Given the description of an element on the screen output the (x, y) to click on. 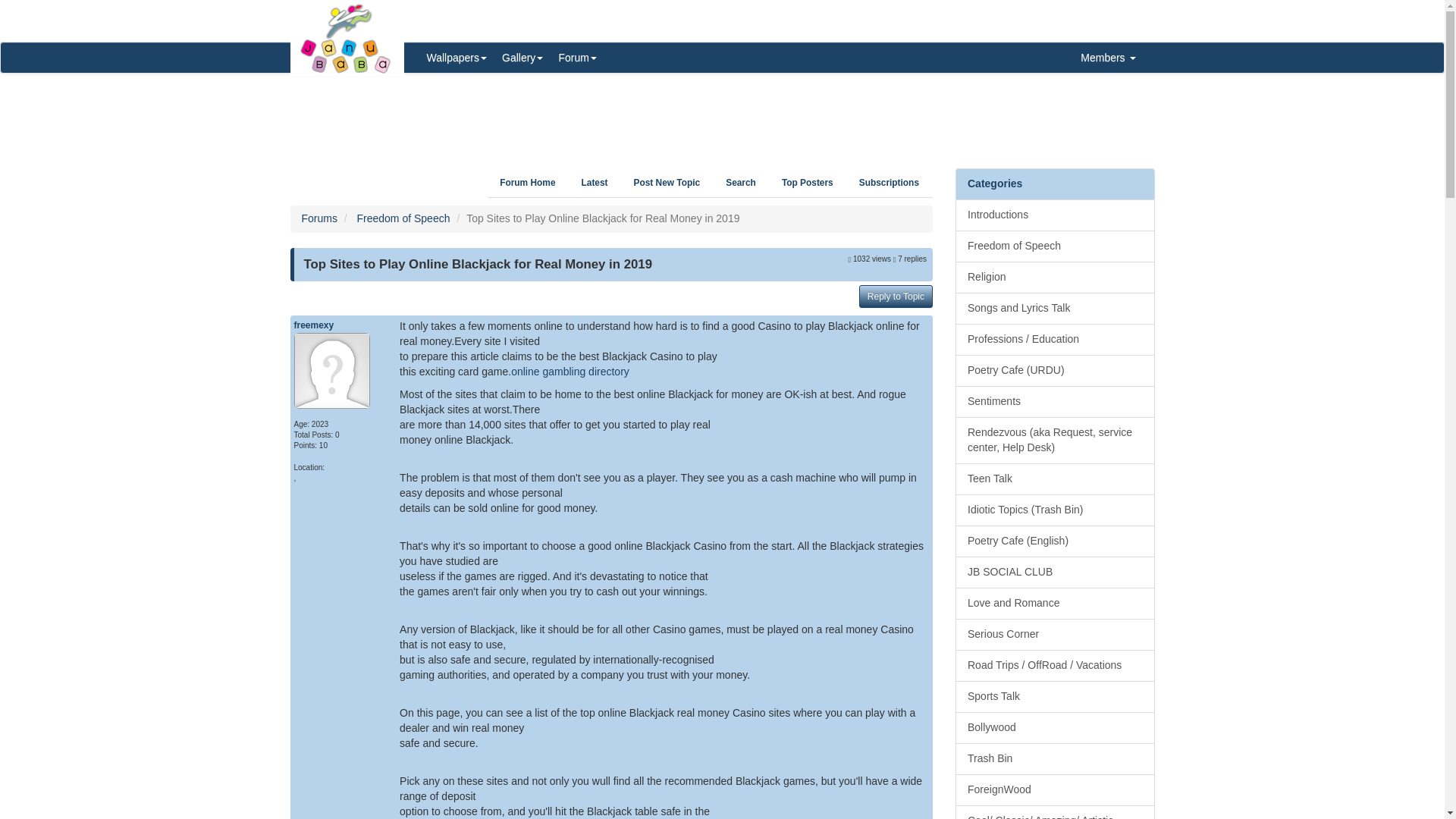
Advertisement (721, 115)
Forum (577, 57)
Wallpapers (457, 57)
Gallery (522, 57)
